Given the description of an element on the screen output the (x, y) to click on. 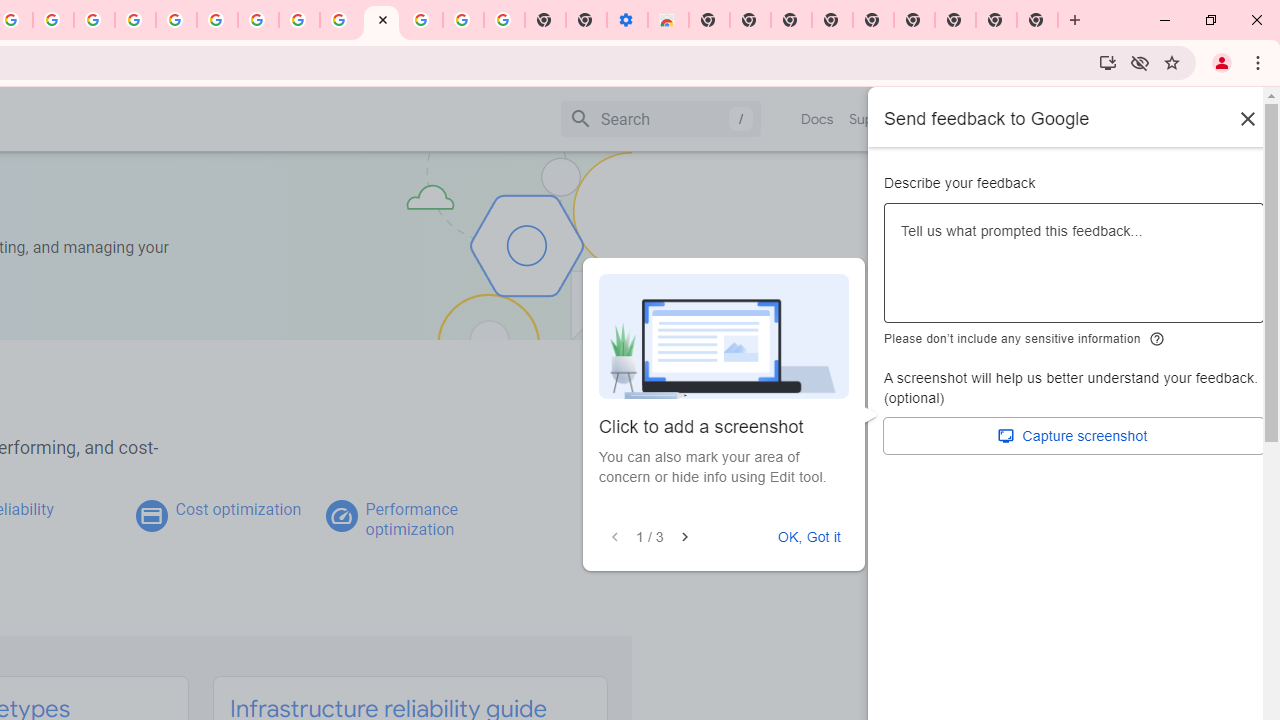
OK, Got it (809, 537)
Create your Google Account (53, 20)
New Tab (955, 20)
Browse the Google Chrome Community - Google Chrome Community (340, 20)
Install Google Cloud (1107, 62)
Third-party cookies blocked (1139, 62)
Next (683, 537)
English (985, 118)
